Given the description of an element on the screen output the (x, y) to click on. 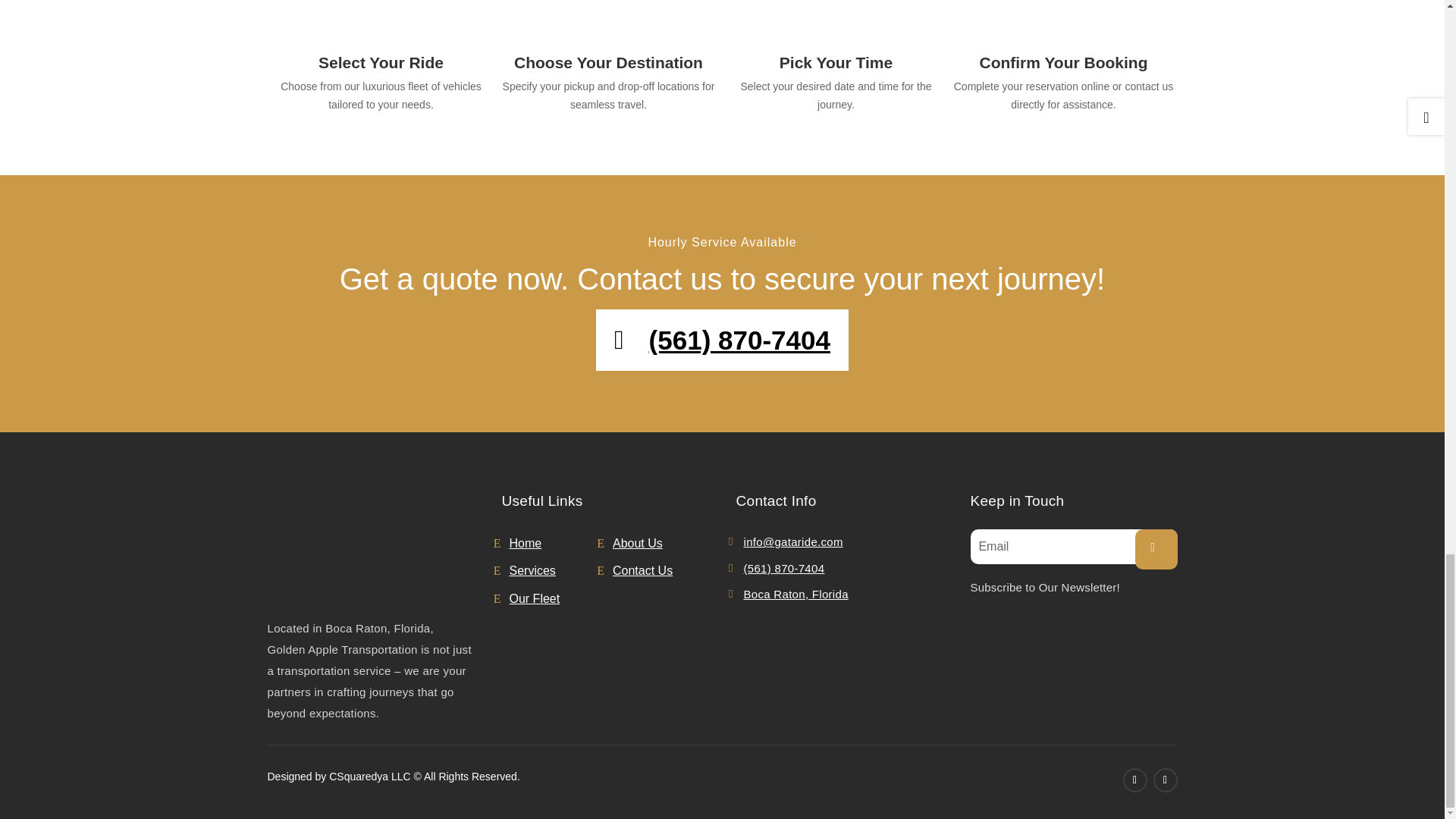
Follow on Instagram (1164, 780)
Services (553, 571)
Home (553, 543)
Follow on Facebook (1134, 780)
About Us (657, 543)
Our Fleet (553, 598)
Subscribe (1155, 549)
Boca Raton, Florida (795, 594)
Contact Us (657, 571)
